Given the description of an element on the screen output the (x, y) to click on. 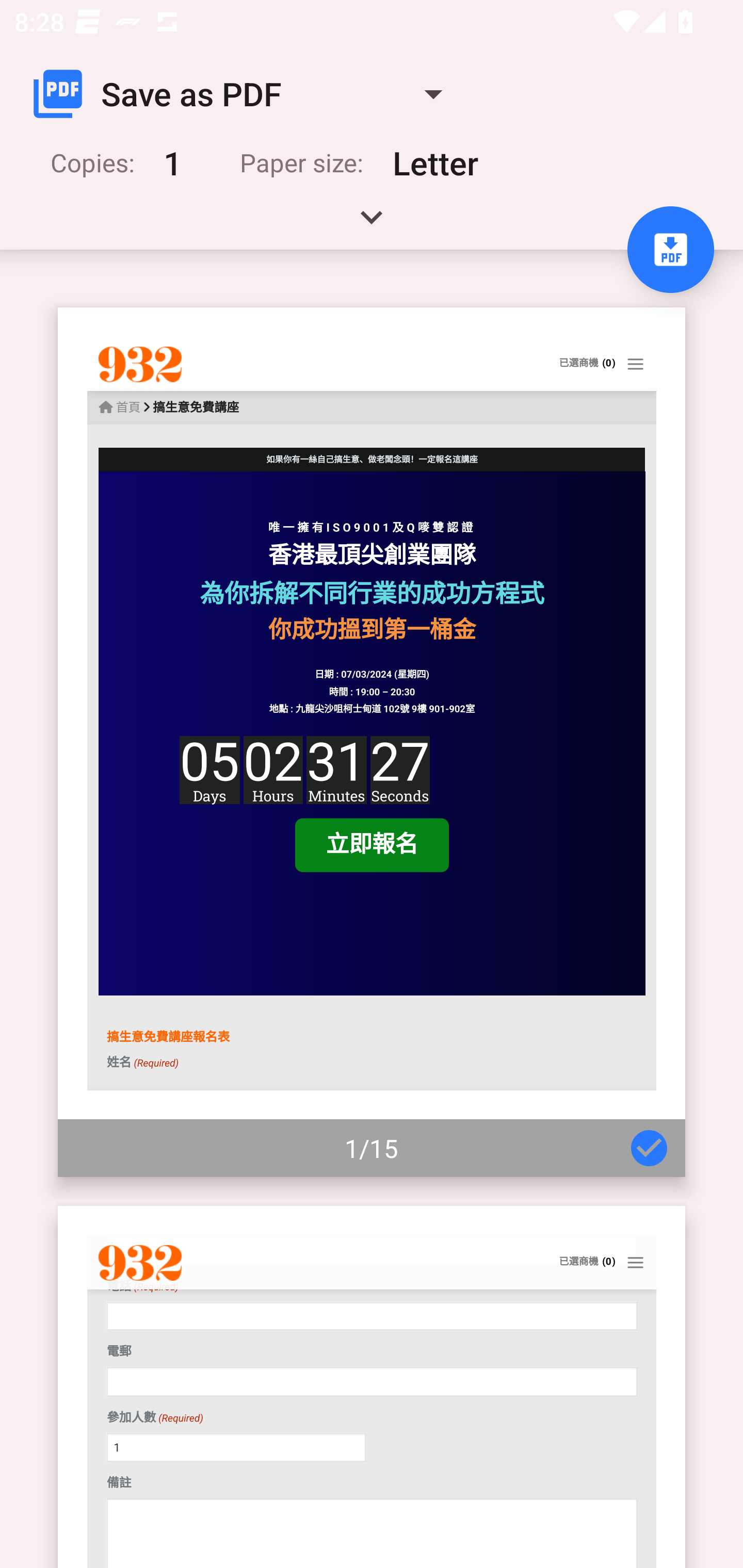
Save as PDF (245, 93)
Expand handle (371, 224)
Save to PDF (670, 249)
Page 1 of 15 1/15 (371, 742)
Page 2 of 15 (371, 1386)
